Given the description of an element on the screen output the (x, y) to click on. 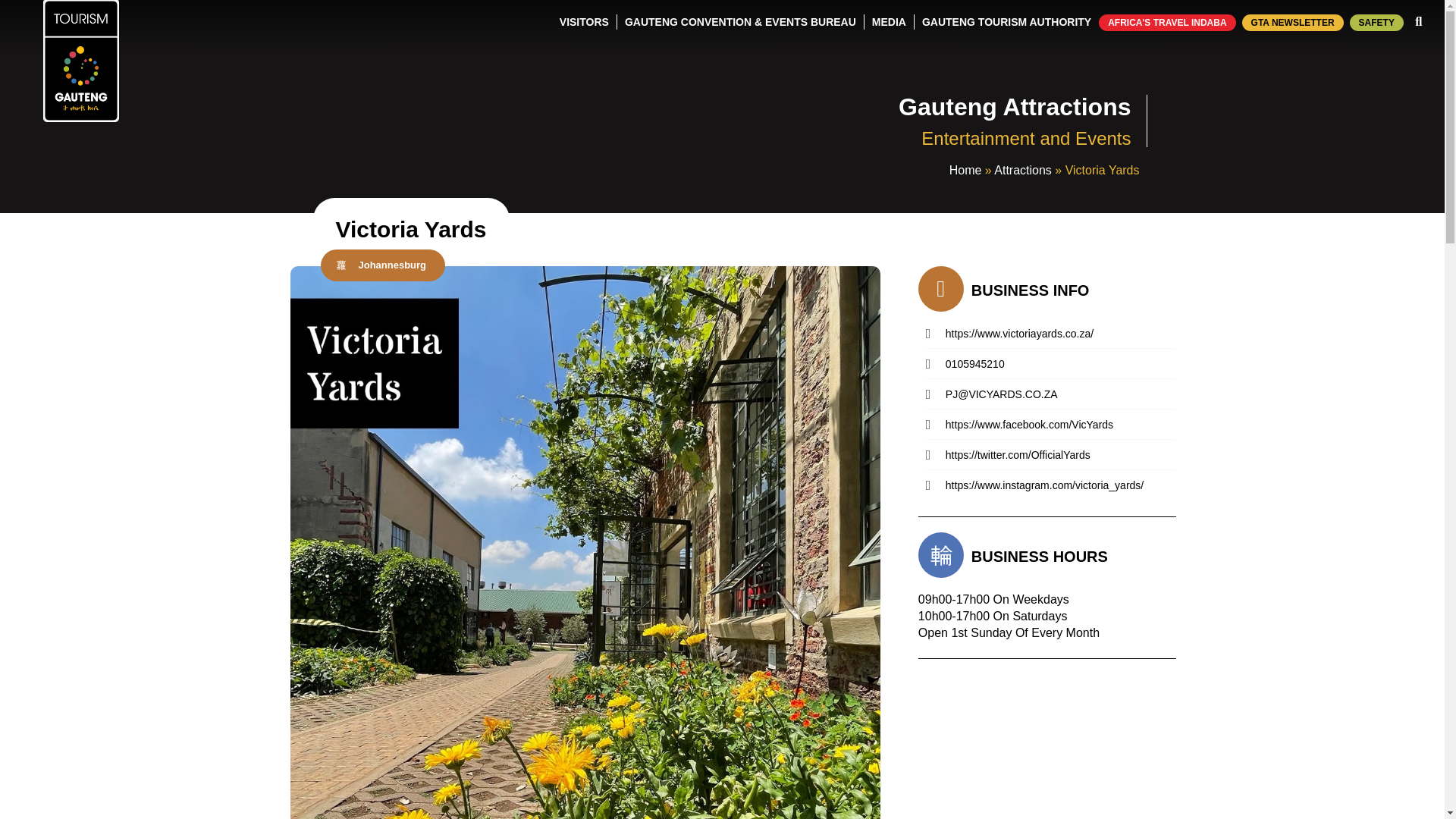
VISITORS (584, 21)
